Given the description of an element on the screen output the (x, y) to click on. 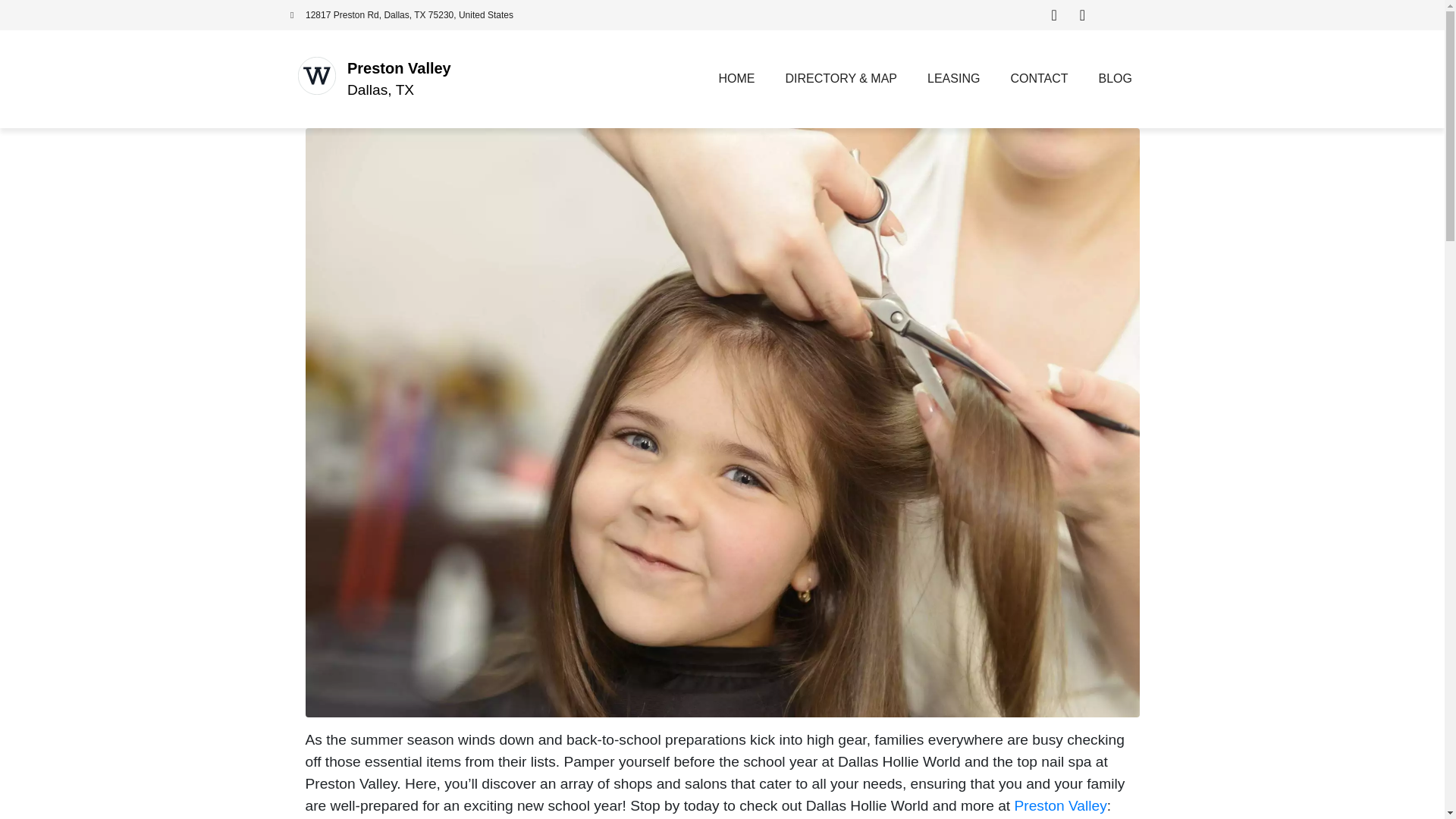
HOME (736, 78)
Preston Valley (399, 67)
BLOG (1115, 78)
CONTACT (1038, 78)
LEASING (953, 78)
Shop Your Heart Out at Dallas Hollie World in Preston Valley (721, 421)
Preston Valley (1059, 805)
